Given the description of an element on the screen output the (x, y) to click on. 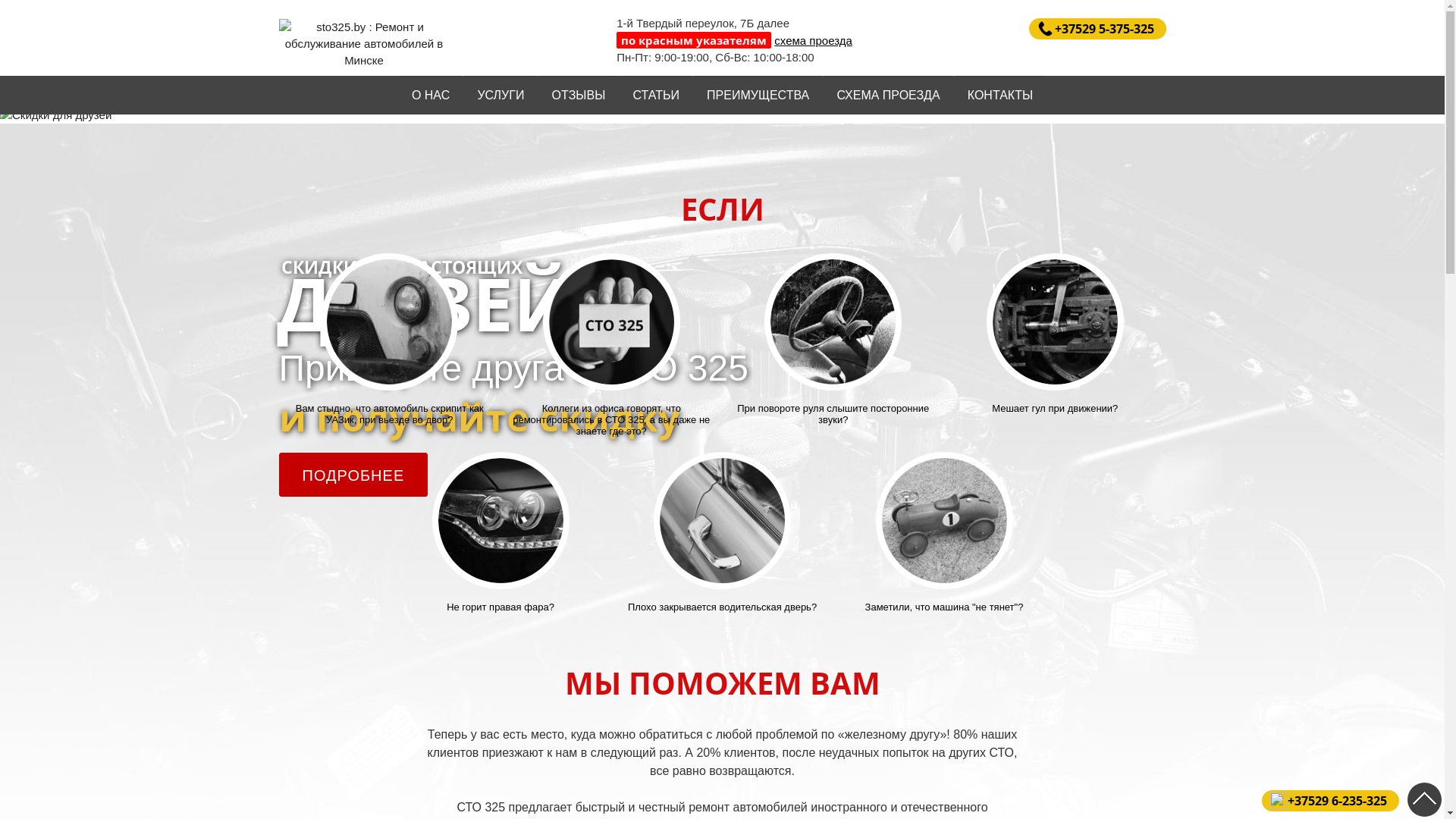
+37529 6-235-325 Element type: text (1330, 800)
+37529 5-375-325 Element type: text (1096, 28)
